Given the description of an element on the screen output the (x, y) to click on. 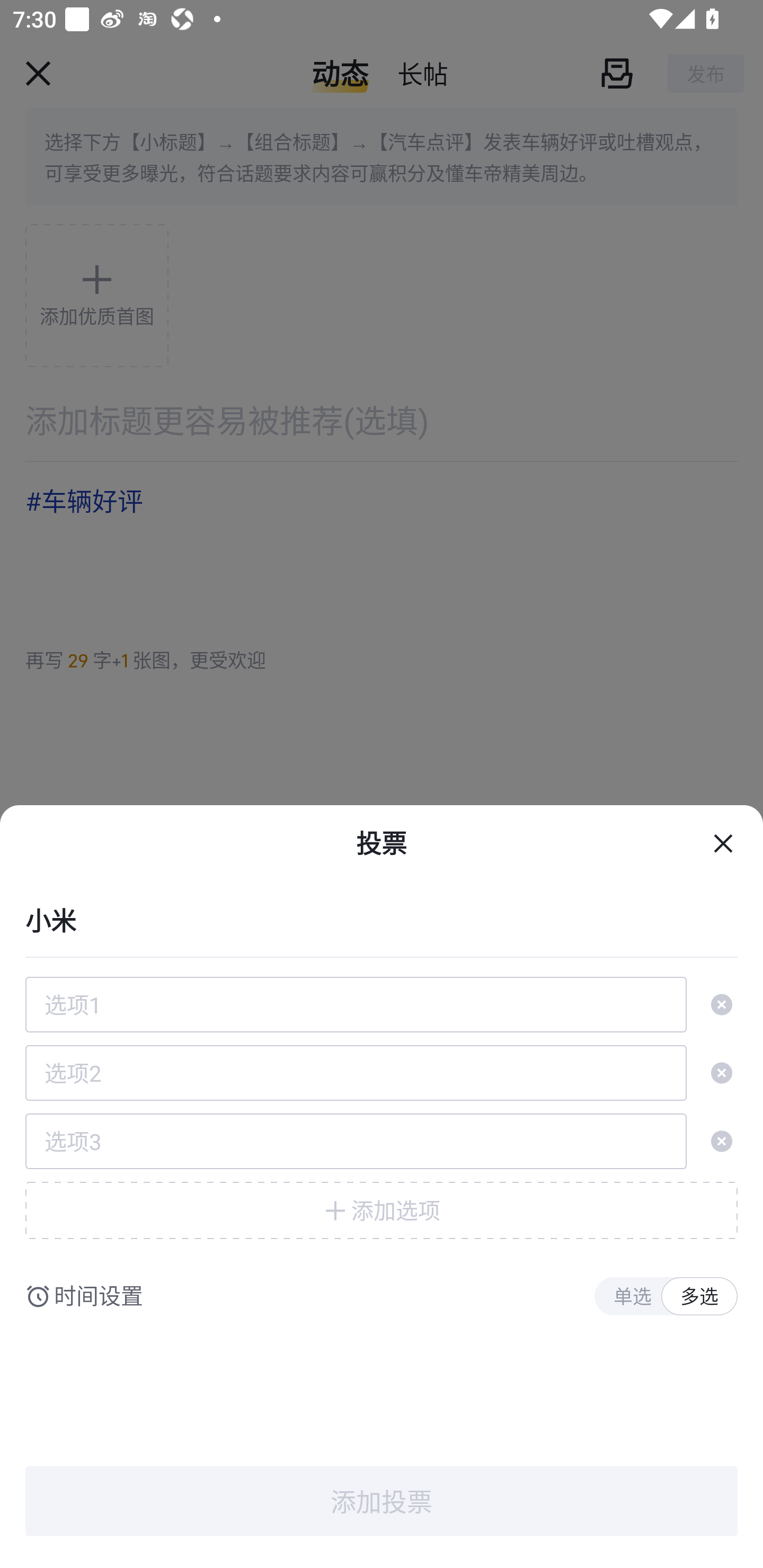
小米 (381, 918)
选项1 (355, 1003)
选项2 (355, 1072)
选项3 (355, 1141)
添加选项 (381, 1210)
单选 (632, 1296)
多选 (699, 1296)
时间设置 (98, 1296)
